Given the description of an element on the screen output the (x, y) to click on. 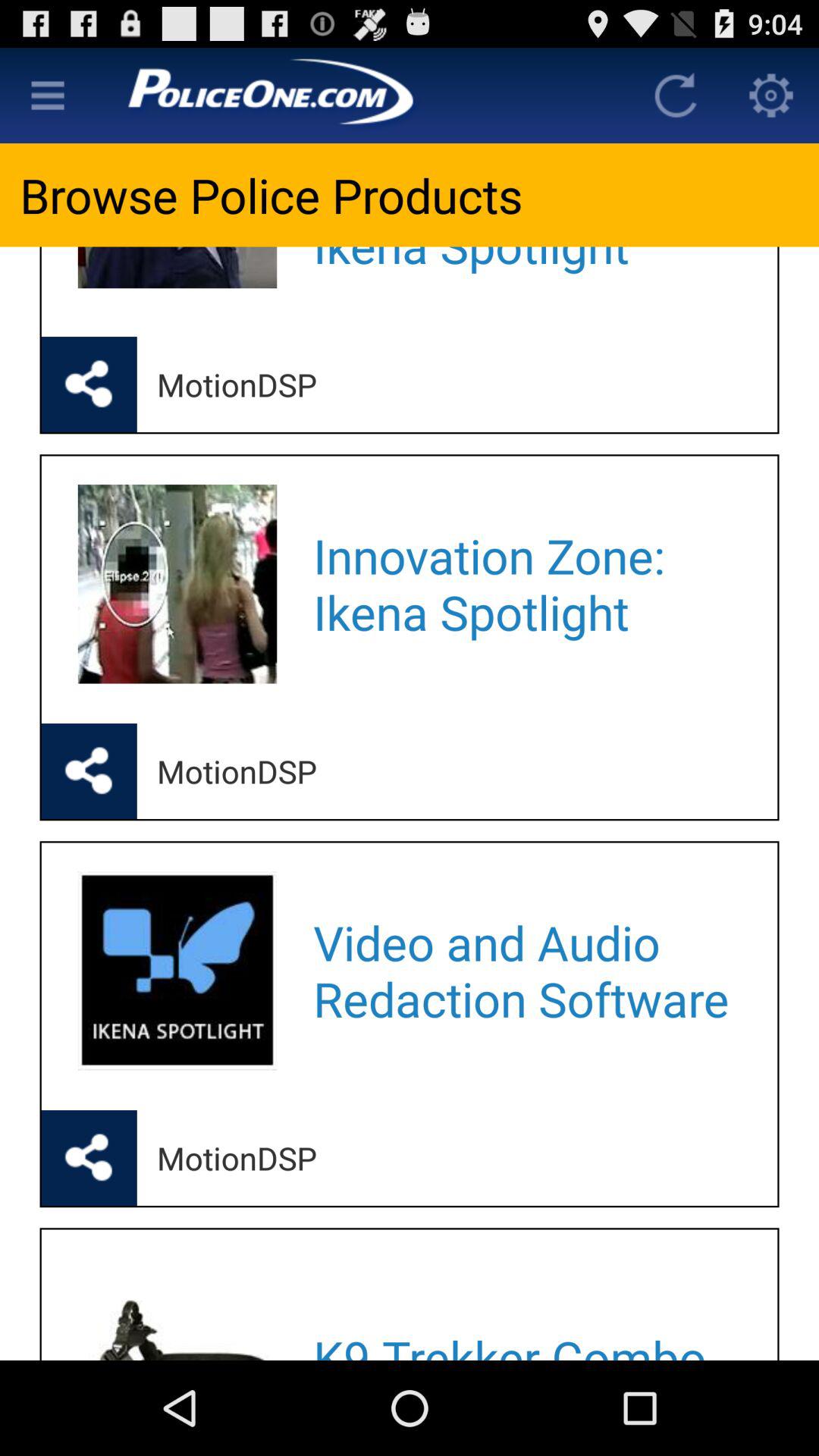
sahre (89, 1157)
